Given the description of an element on the screen output the (x, y) to click on. 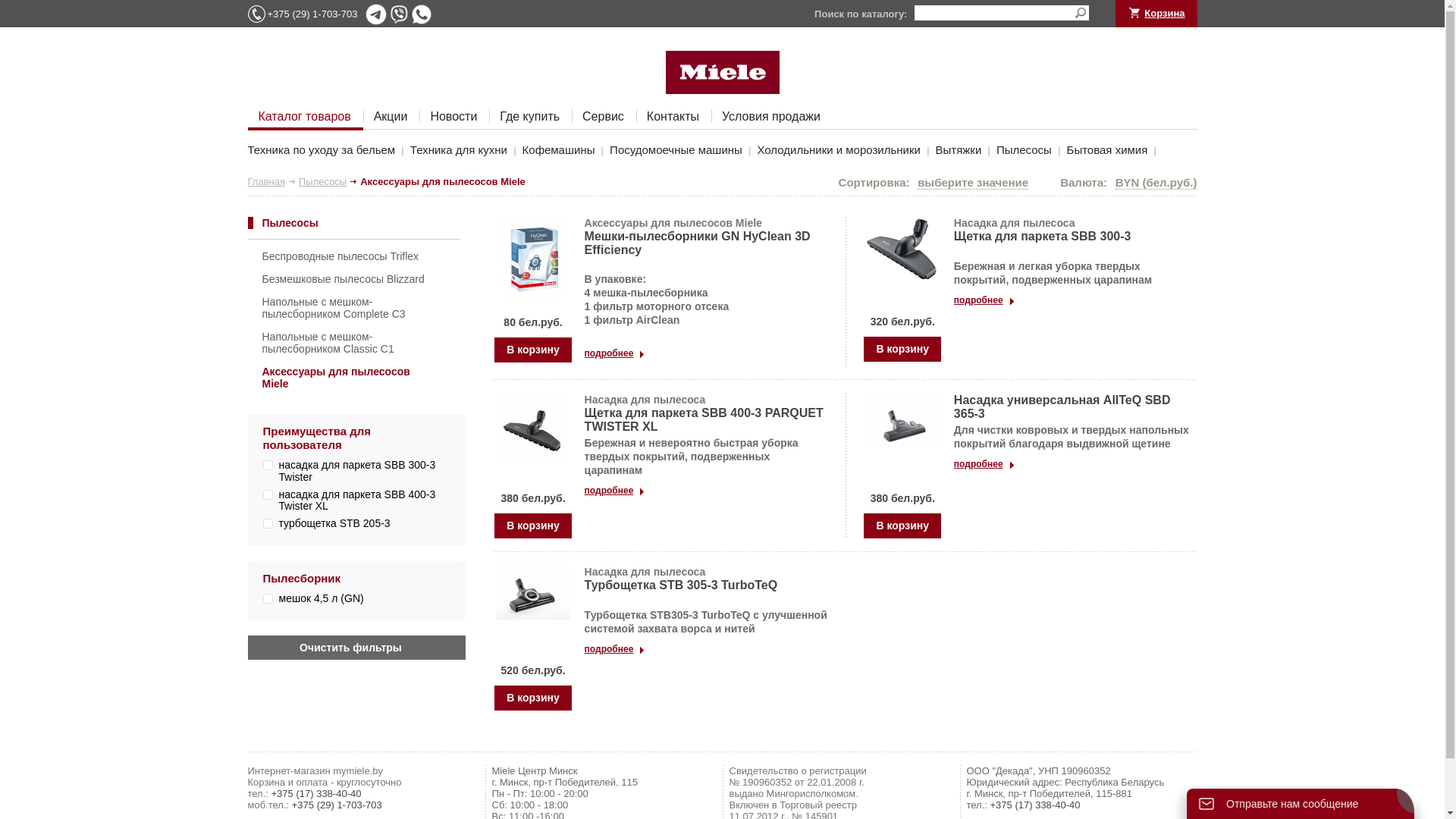
+375 (29) 1-703-703 Element type: text (336, 804)
+375 (17) 338-40-40 Element type: text (1035, 804)
+375 (29) 1-703-703 Element type: text (311, 13)
+375 (17) 338-40-40 Element type: text (316, 793)
